Given the description of an element on the screen output the (x, y) to click on. 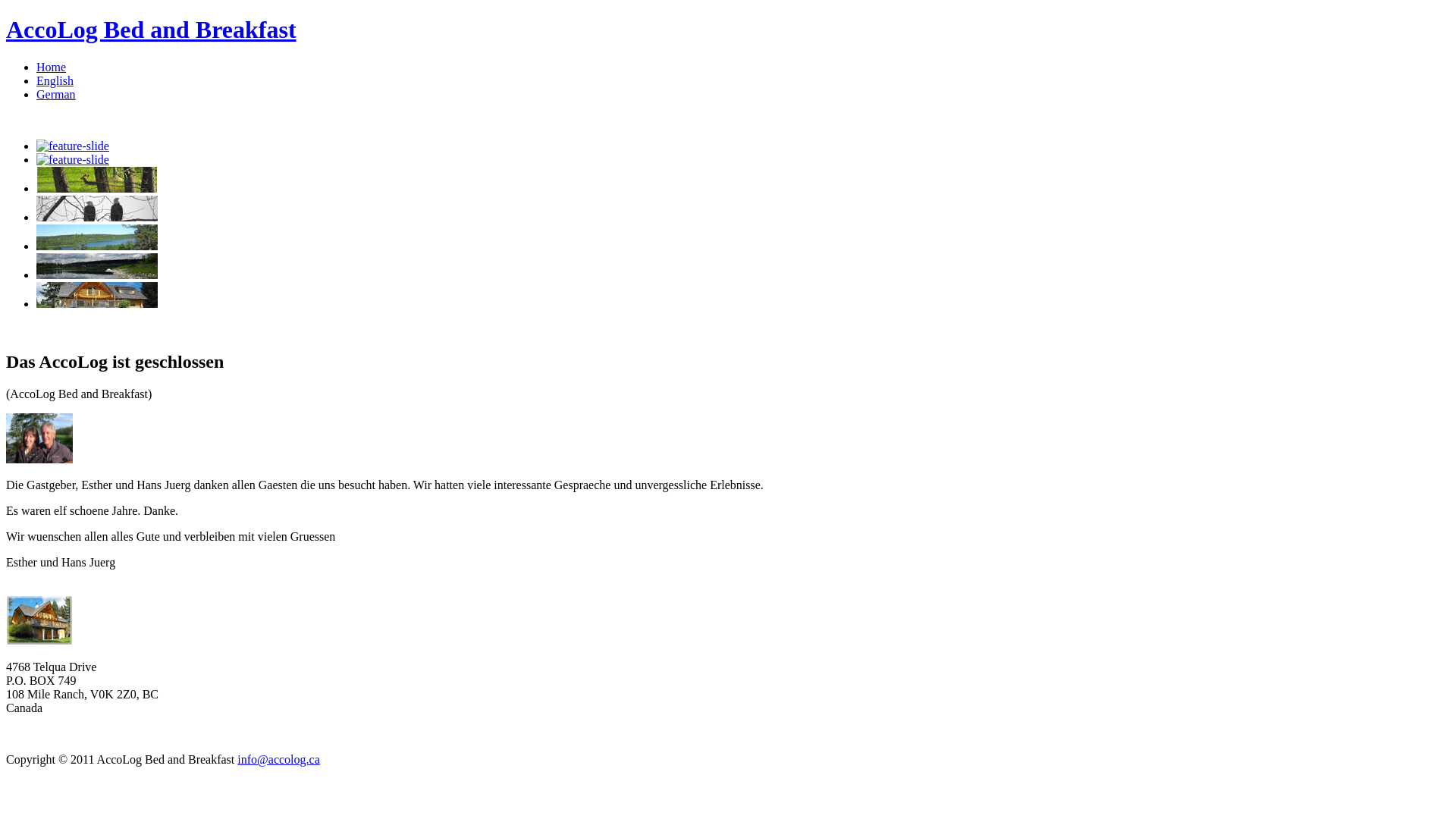
AccoLog Bed and Breakfast Element type: text (151, 29)
info@accolog.ca Element type: text (278, 759)
German Element type: text (55, 93)
Home Element type: text (50, 66)
English Element type: text (54, 80)
